Given the description of an element on the screen output the (x, y) to click on. 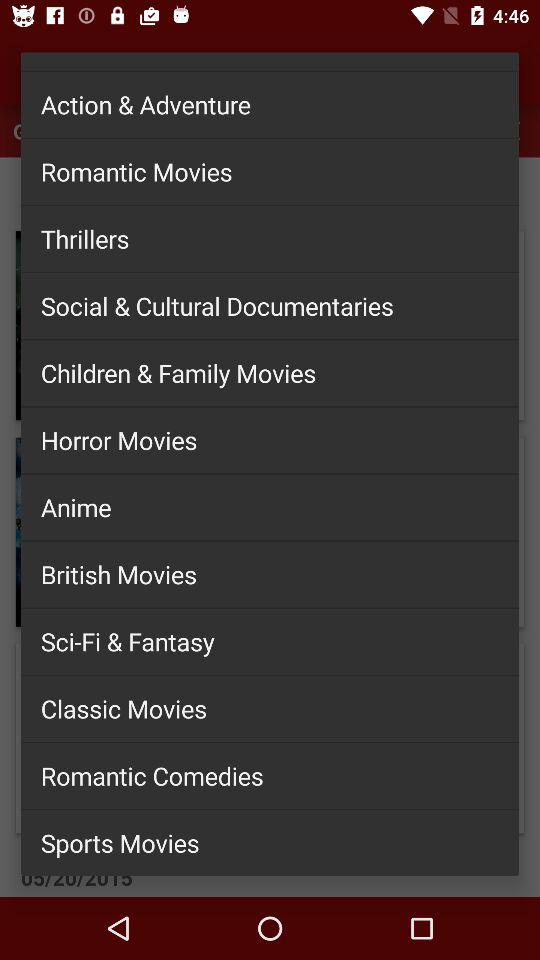
jump to romantic comedies icon (269, 775)
